Given the description of an element on the screen output the (x, y) to click on. 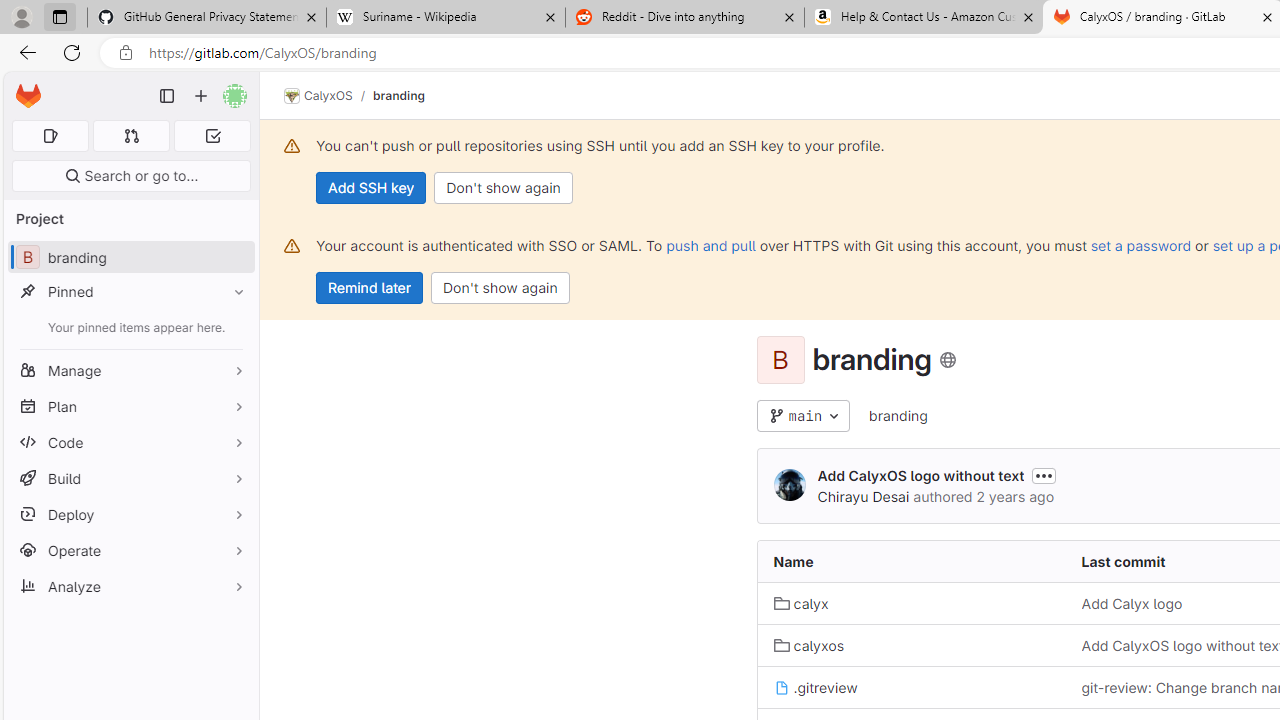
Chirayu Desai (863, 496)
Add SSH key (371, 187)
branding (898, 415)
set a password (1140, 245)
Plan (130, 406)
main (803, 416)
.gitreview (815, 686)
Class: s16 position-relative file-icon (781, 687)
Merge requests 0 (131, 136)
calyx (911, 602)
Create new... (201, 96)
Operate (130, 550)
